Given the description of an element on the screen output the (x, y) to click on. 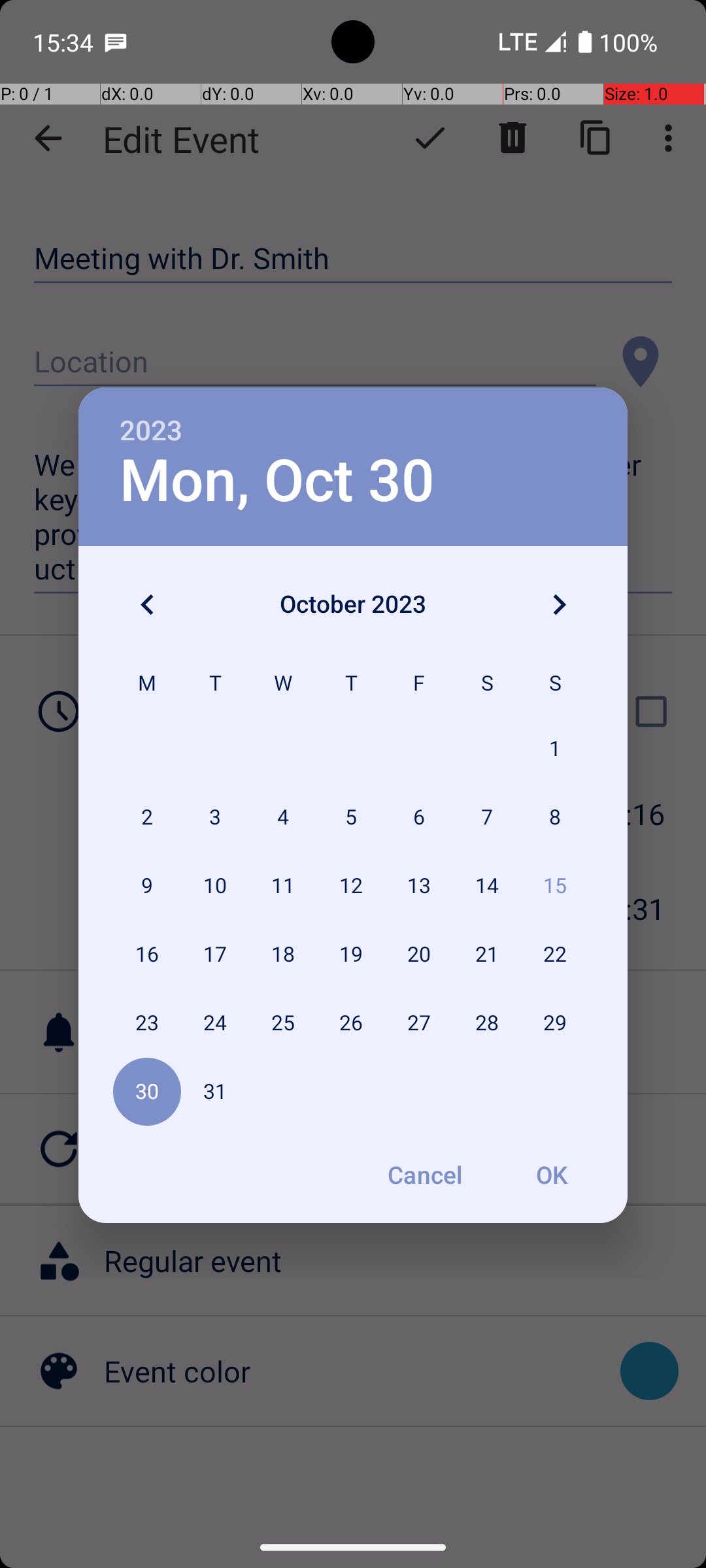
Mon, Oct 30 Element type: android.widget.TextView (276, 480)
